Given the description of an element on the screen output the (x, y) to click on. 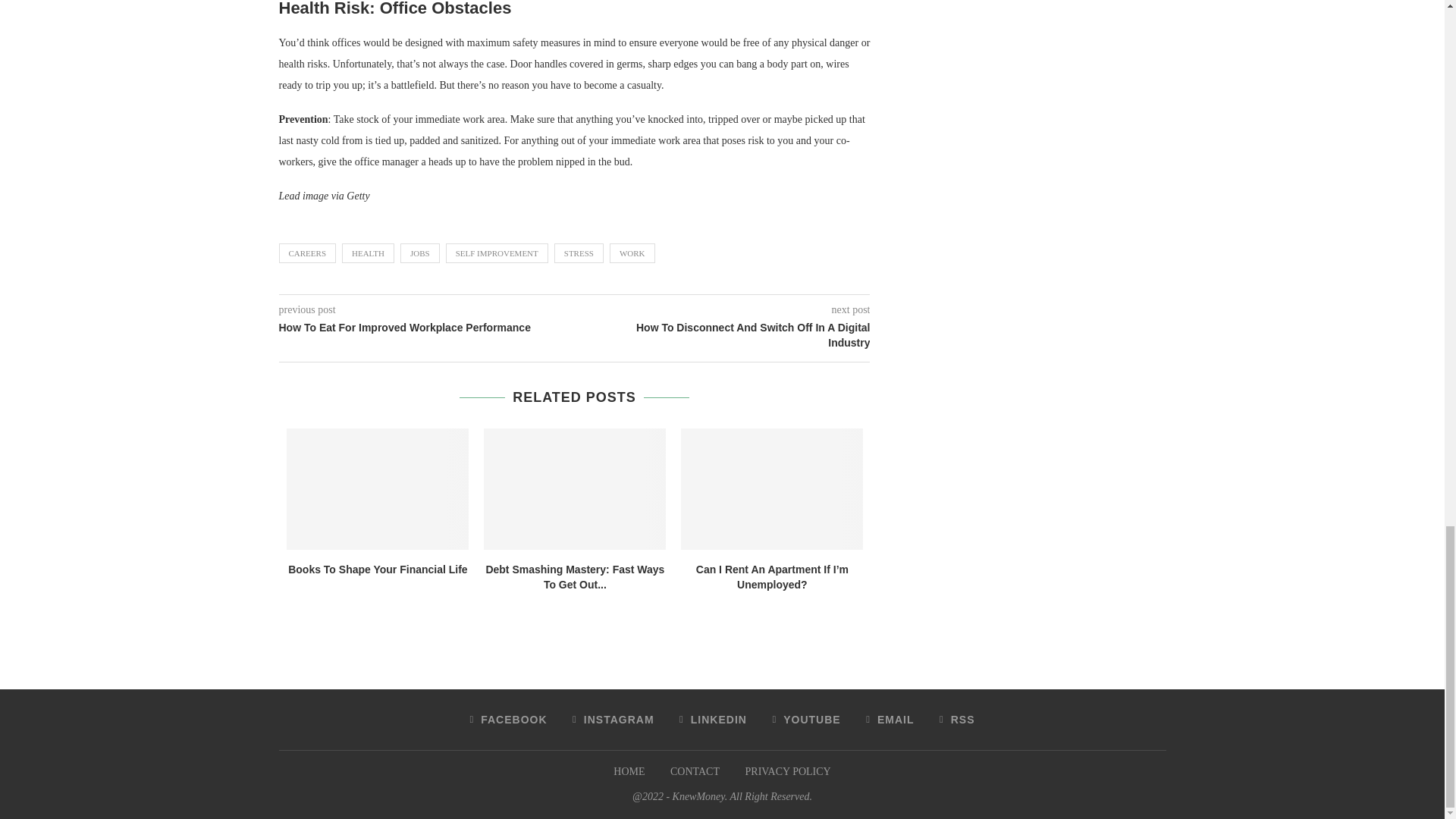
Debt Smashing Mastery: Fast Ways To Get Out Of Debt (574, 488)
Books To Shape Your Financial Life (377, 488)
HEALTH (368, 252)
SELF IMPROVEMENT (496, 252)
JOBS (419, 252)
STRESS (579, 252)
How To Eat For Improved Workplace Performance (427, 328)
How To Disconnect And Switch Off In A Digital Industry (722, 335)
CAREERS (307, 252)
WORK (632, 252)
